Given the description of an element on the screen output the (x, y) to click on. 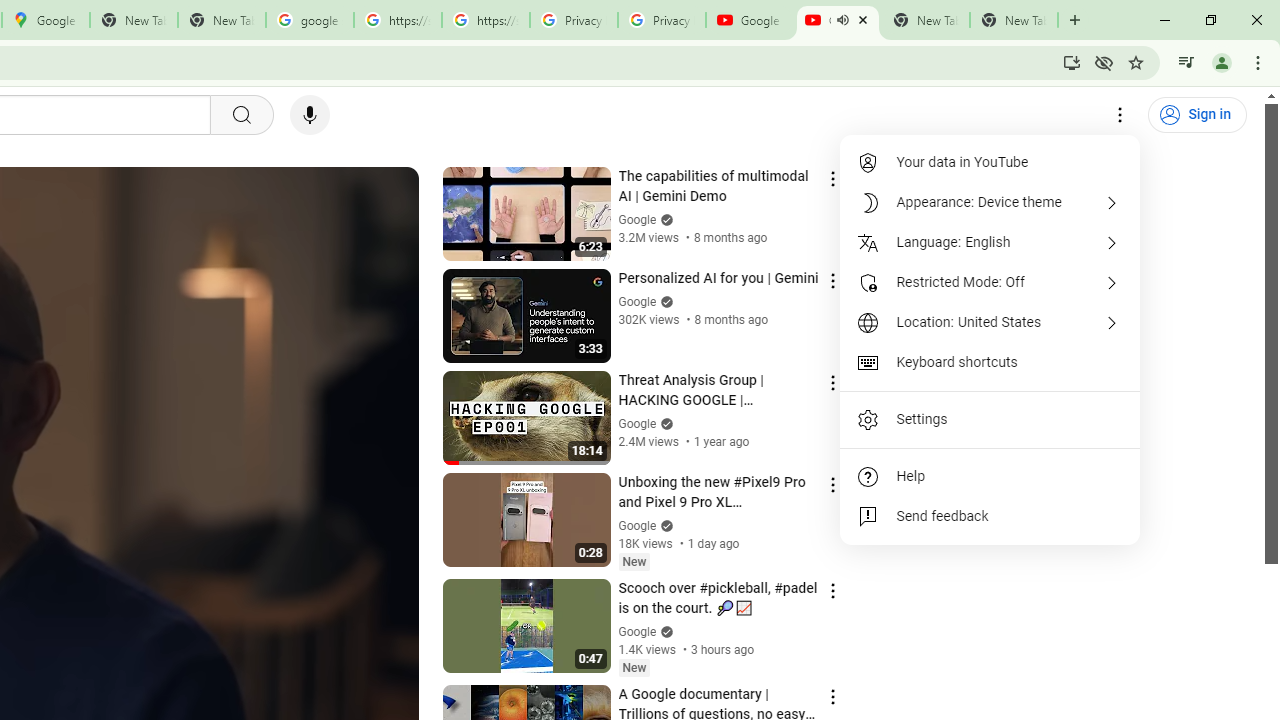
https://scholar.google.com/ (485, 20)
